Given the description of an element on the screen output the (x, y) to click on. 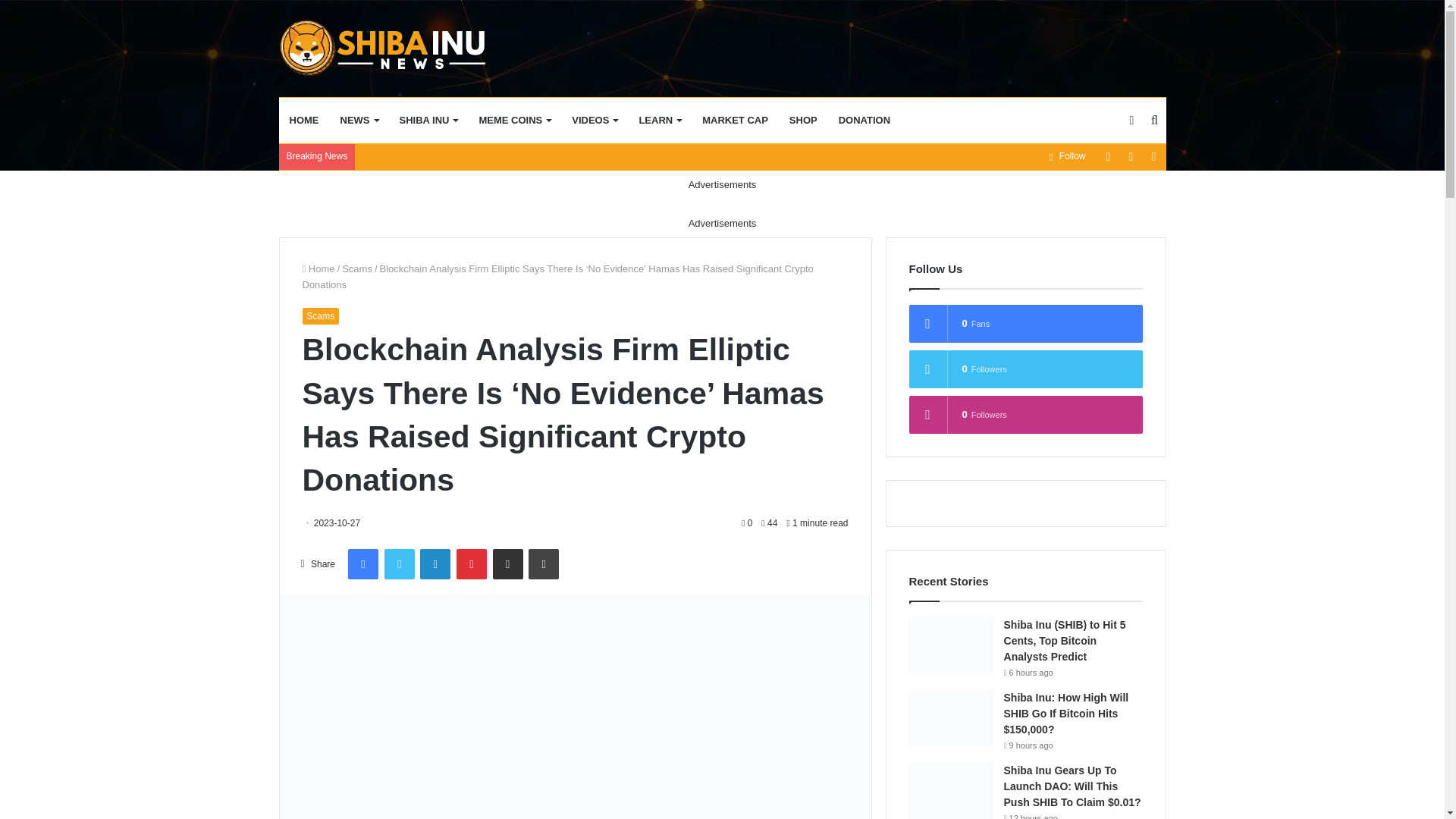
Home (317, 268)
Twitter (399, 563)
NEWS (358, 120)
Pinterest (471, 563)
LEARN (659, 120)
LinkedIn (434, 563)
MEME COINS (513, 120)
Facebook (362, 563)
HOME (304, 120)
VIDEOS (593, 120)
